Given the description of an element on the screen output the (x, y) to click on. 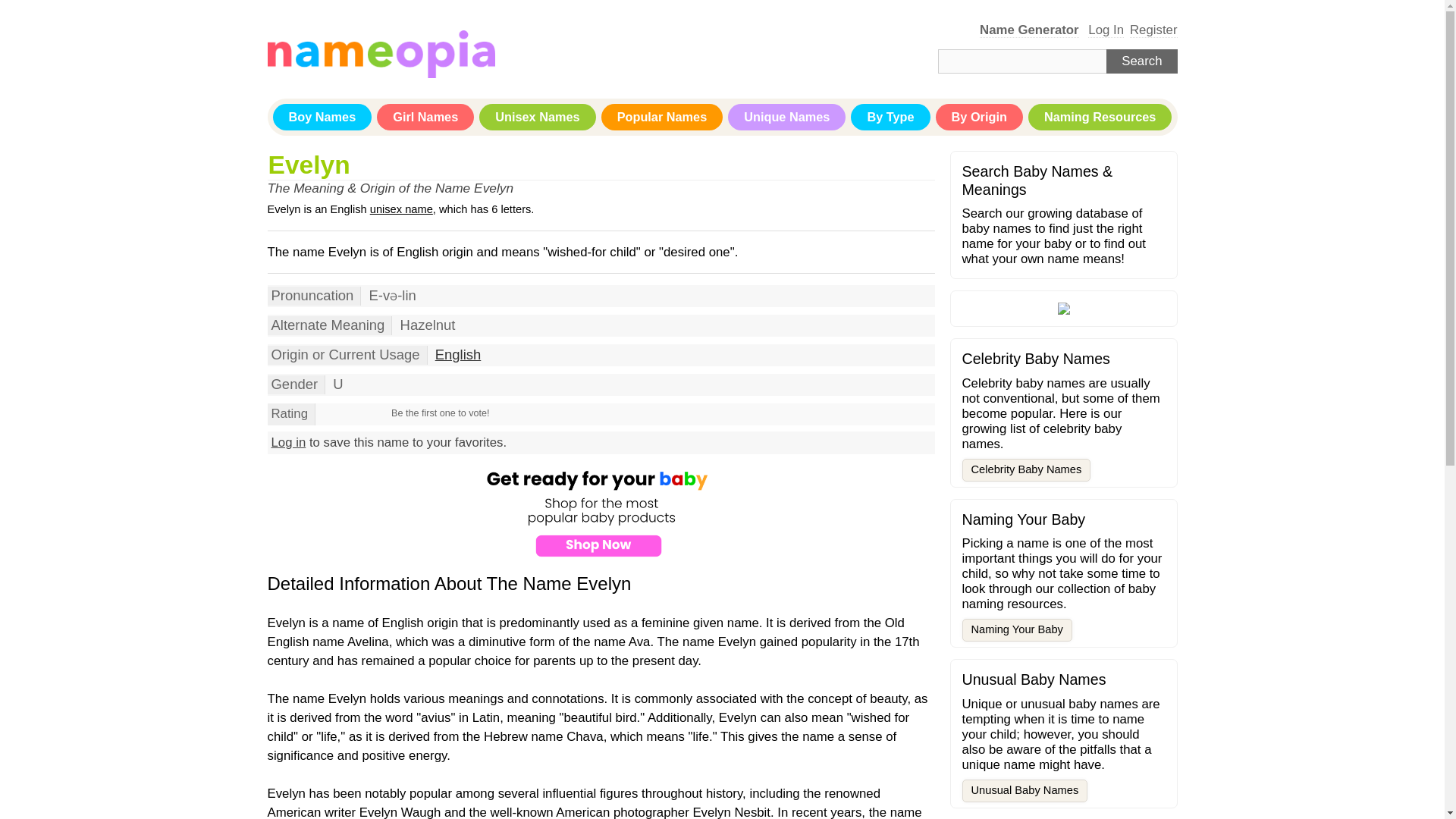
Name Generator (1028, 29)
2 stars out of 5 (331, 413)
1 star out of 5 (324, 413)
Boy Names (322, 117)
5 (351, 413)
Popular Names (662, 117)
Celebrity Baby Names (1025, 469)
Search (1141, 61)
1 (324, 413)
Unisex Names (537, 117)
4 (344, 413)
2 (331, 413)
English (458, 354)
4 stars out of 5 (344, 413)
By Origin (979, 117)
